Given the description of an element on the screen output the (x, y) to click on. 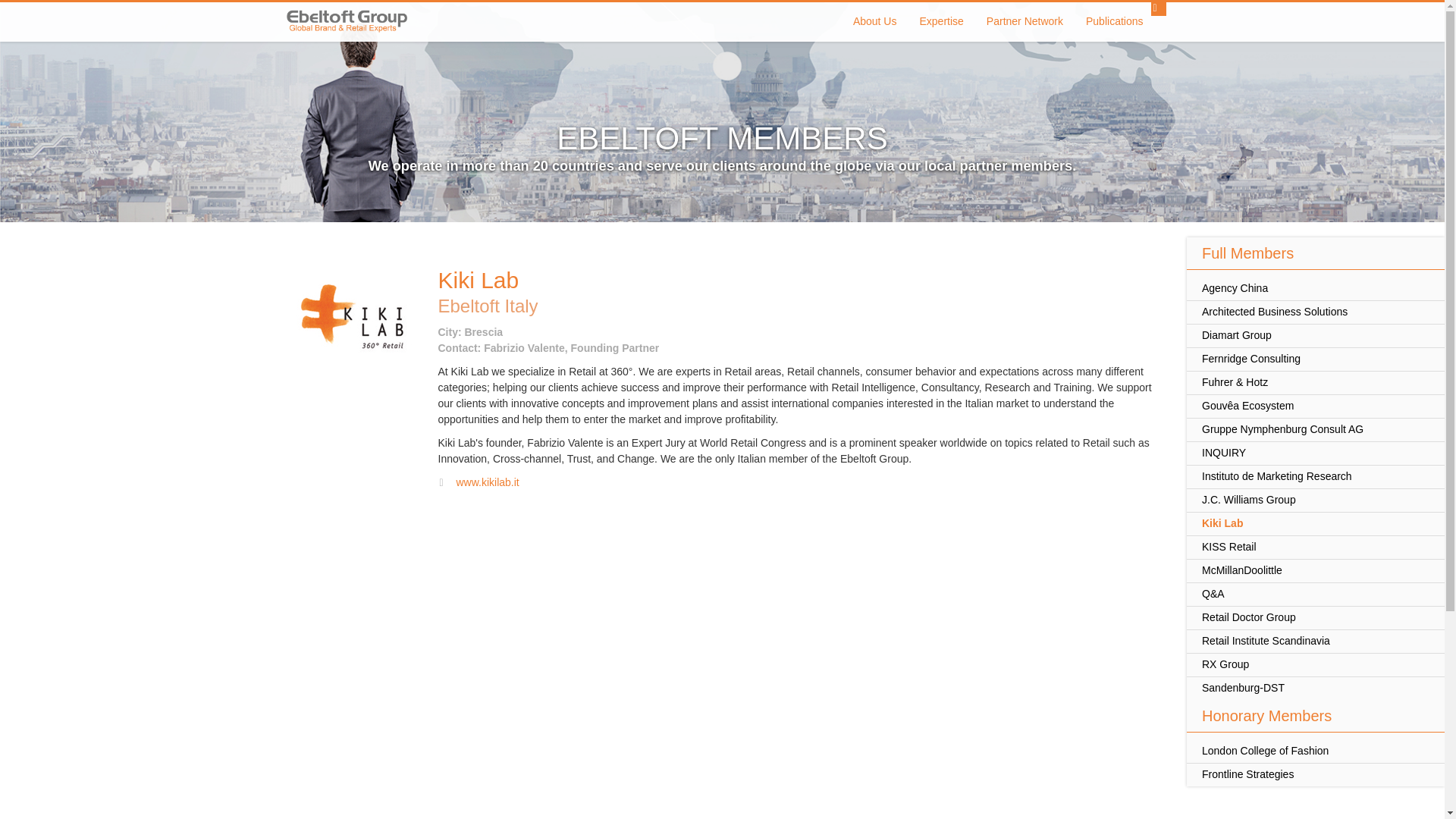
About Us (874, 21)
Partner Network (1024, 21)
Expertise (940, 21)
Publications (1114, 21)
